Given the description of an element on the screen output the (x, y) to click on. 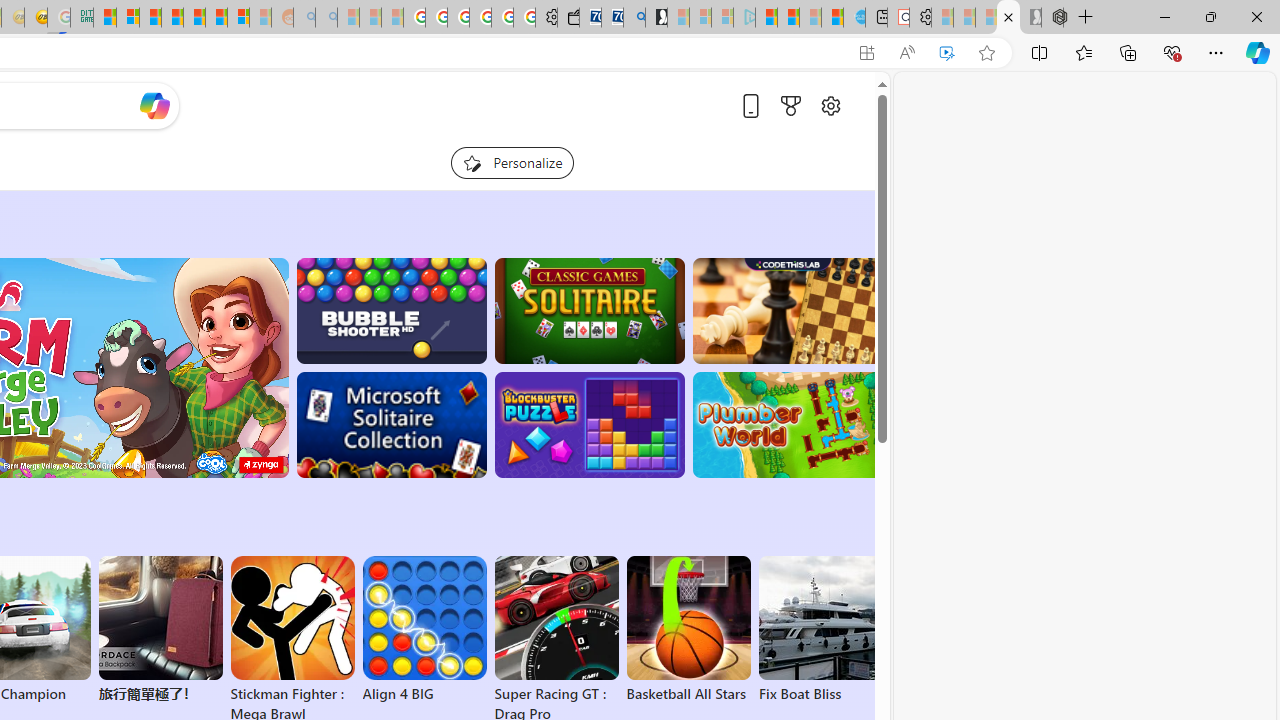
Home | Sky Blue Bikes - Sky Blue Bikes (854, 17)
Basketball All Stars (688, 629)
Student Loan Update: Forgiveness Program Ends This Month (172, 17)
Master Chess (787, 310)
